Given the description of an element on the screen output the (x, y) to click on. 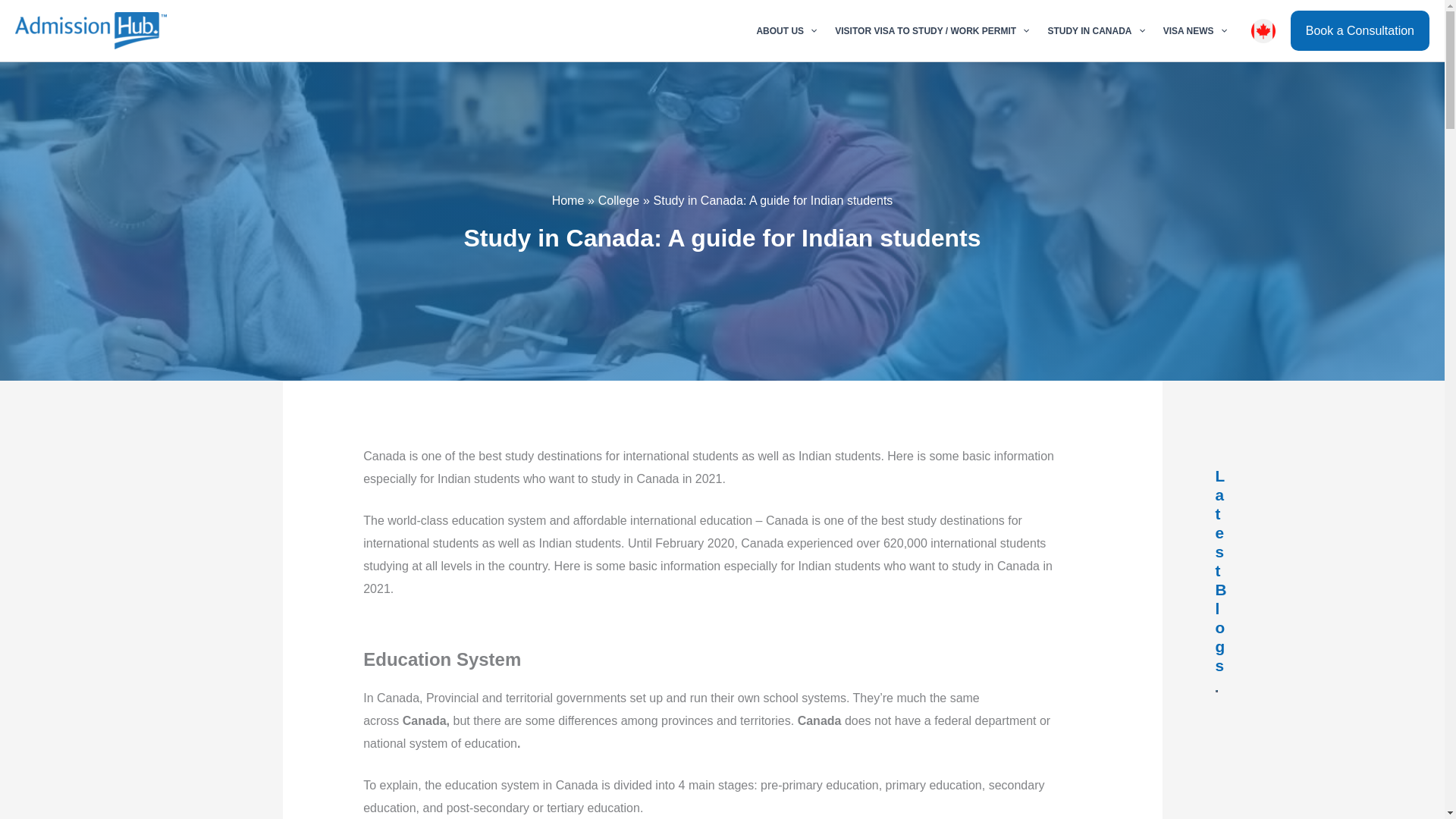
ABOUT US (785, 30)
VISA NEWS (1195, 30)
STUDY IN CANADA (1095, 30)
